Given the description of an element on the screen output the (x, y) to click on. 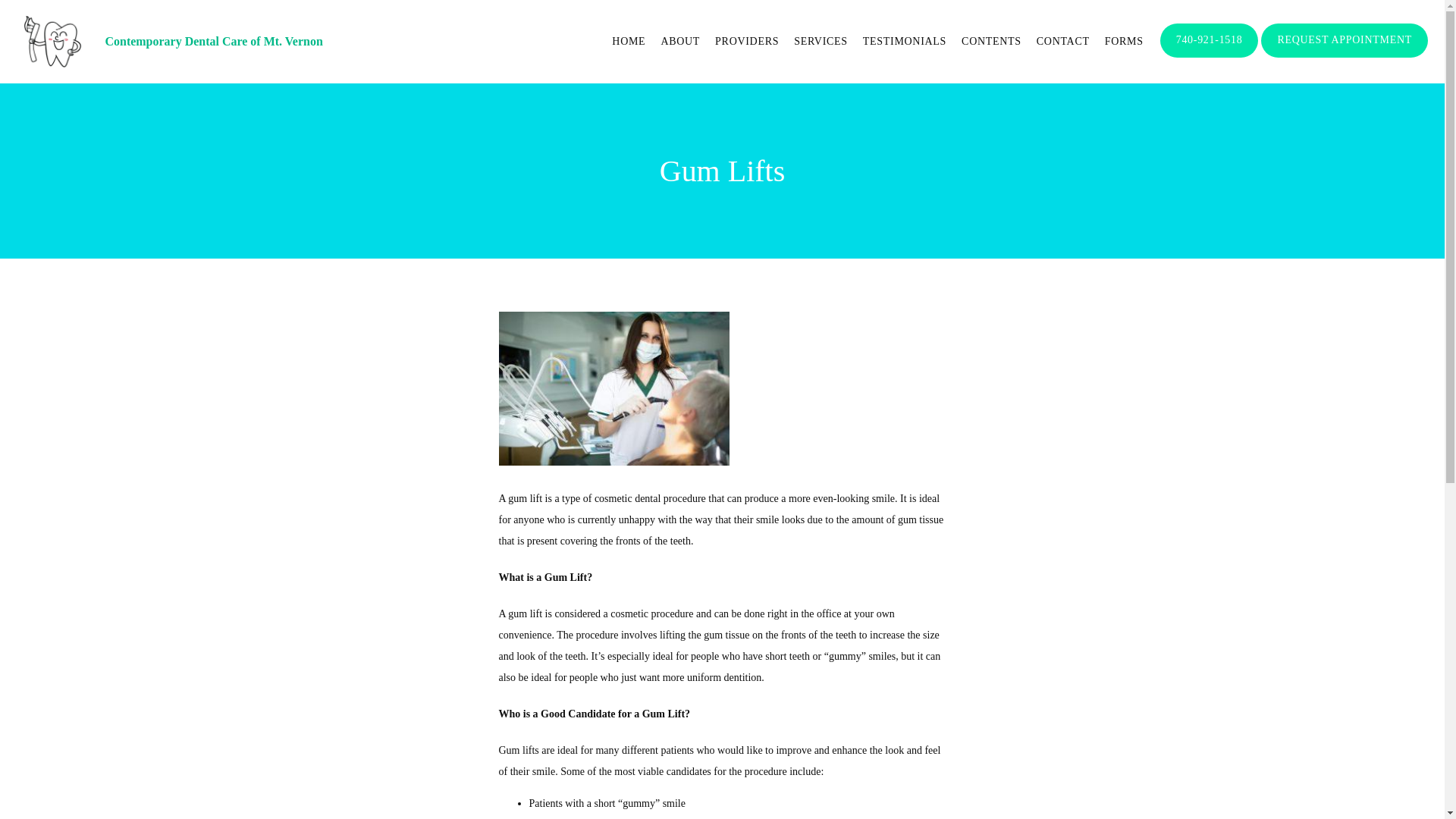
REQUEST APPOINTMENT (1344, 55)
Contemporary Dental Care of Mt. Vernon (212, 41)
ABOUT (680, 41)
TESTIMONIALS (904, 41)
SERVICES (820, 41)
CONTENTS (991, 41)
CONTACT (1062, 41)
HOME (628, 41)
740-921-1518 (1209, 55)
PROVIDERS (746, 41)
